Given the description of an element on the screen output the (x, y) to click on. 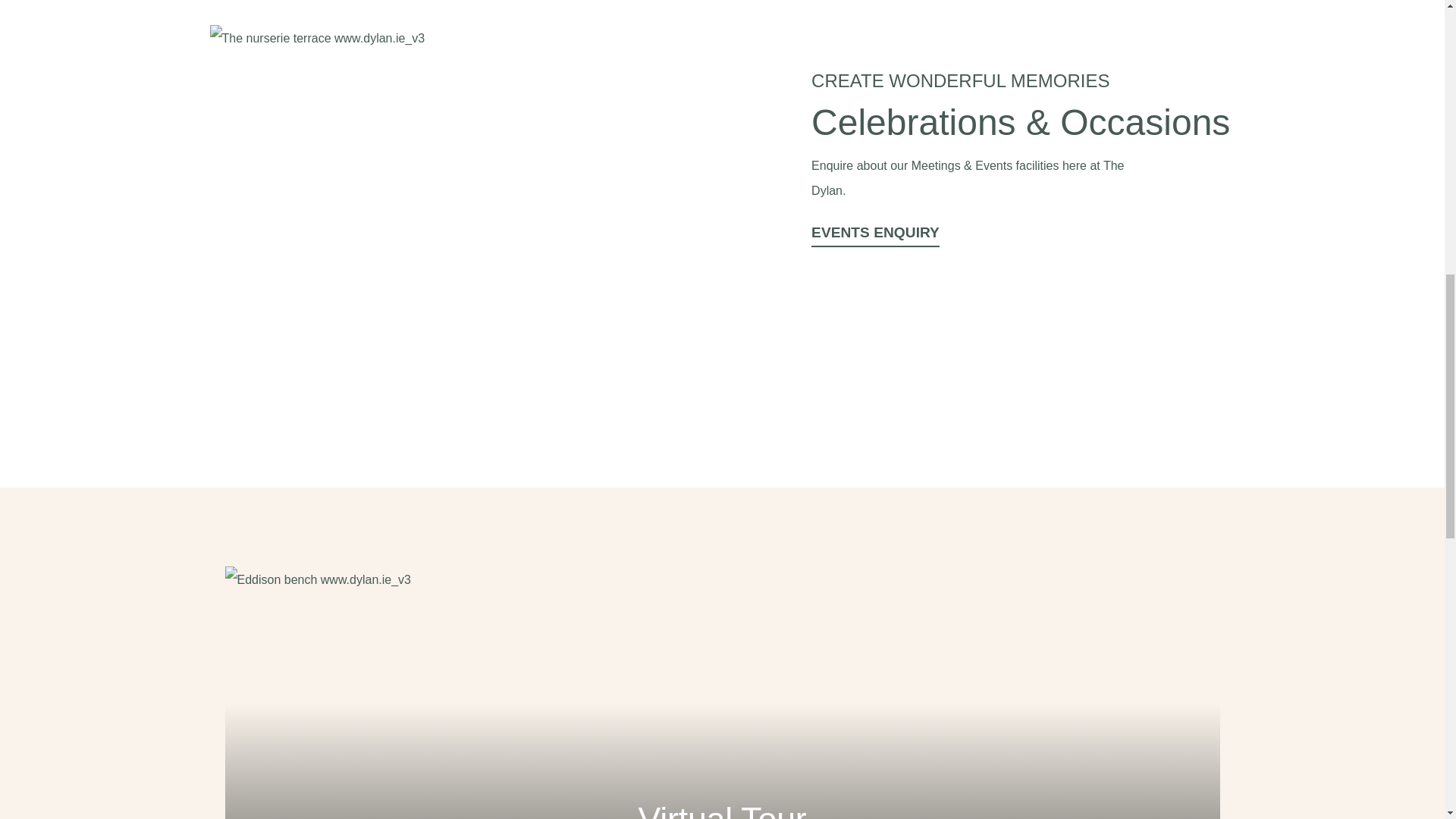
EVENTS ENQUIRY (874, 235)
